Given the description of an element on the screen output the (x, y) to click on. 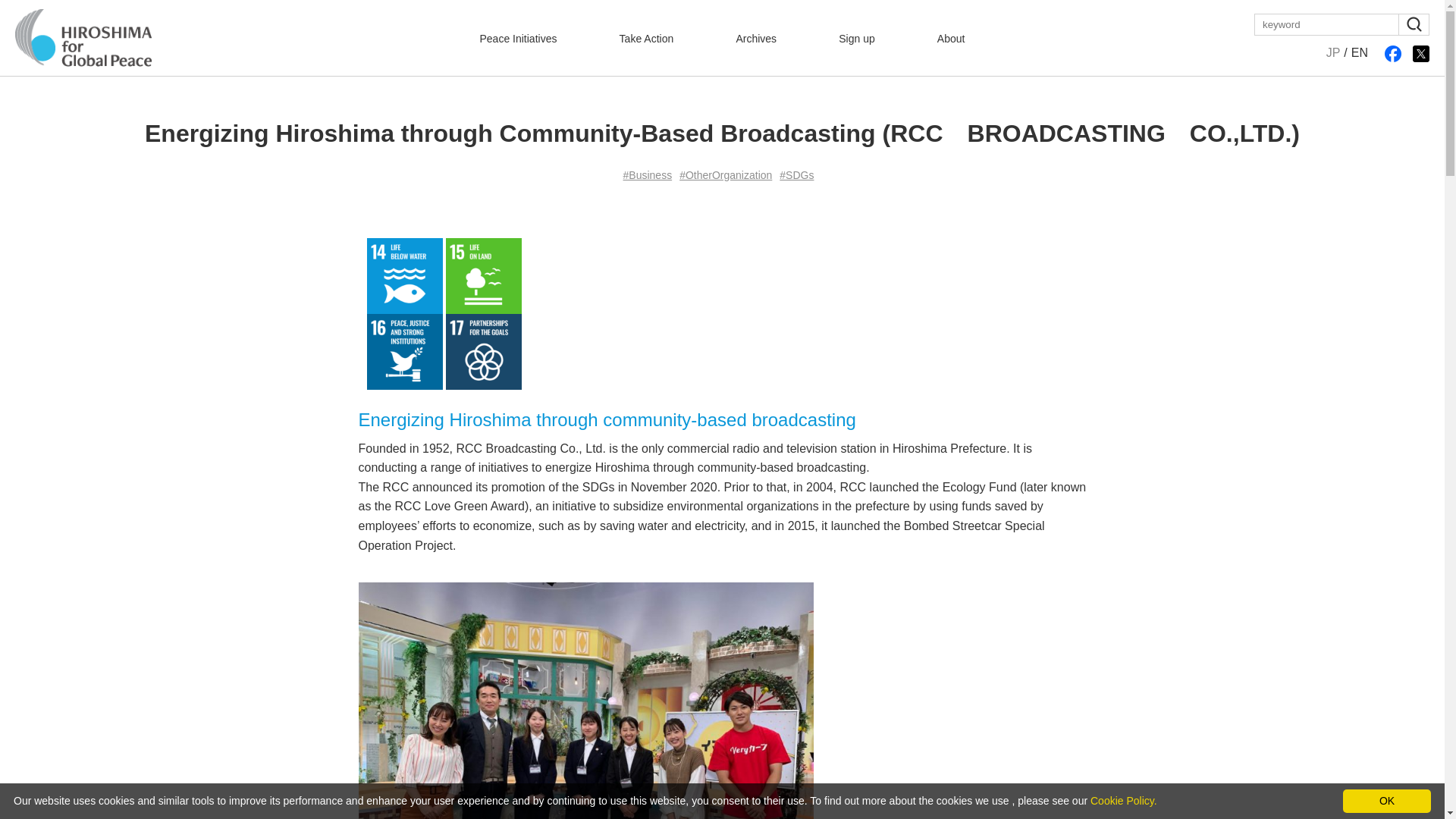
About (951, 38)
Archives (755, 38)
Take Action (647, 38)
Peace Initiatives (517, 38)
Sign up (856, 38)
JP (1330, 52)
EN (1362, 52)
